Given the description of an element on the screen output the (x, y) to click on. 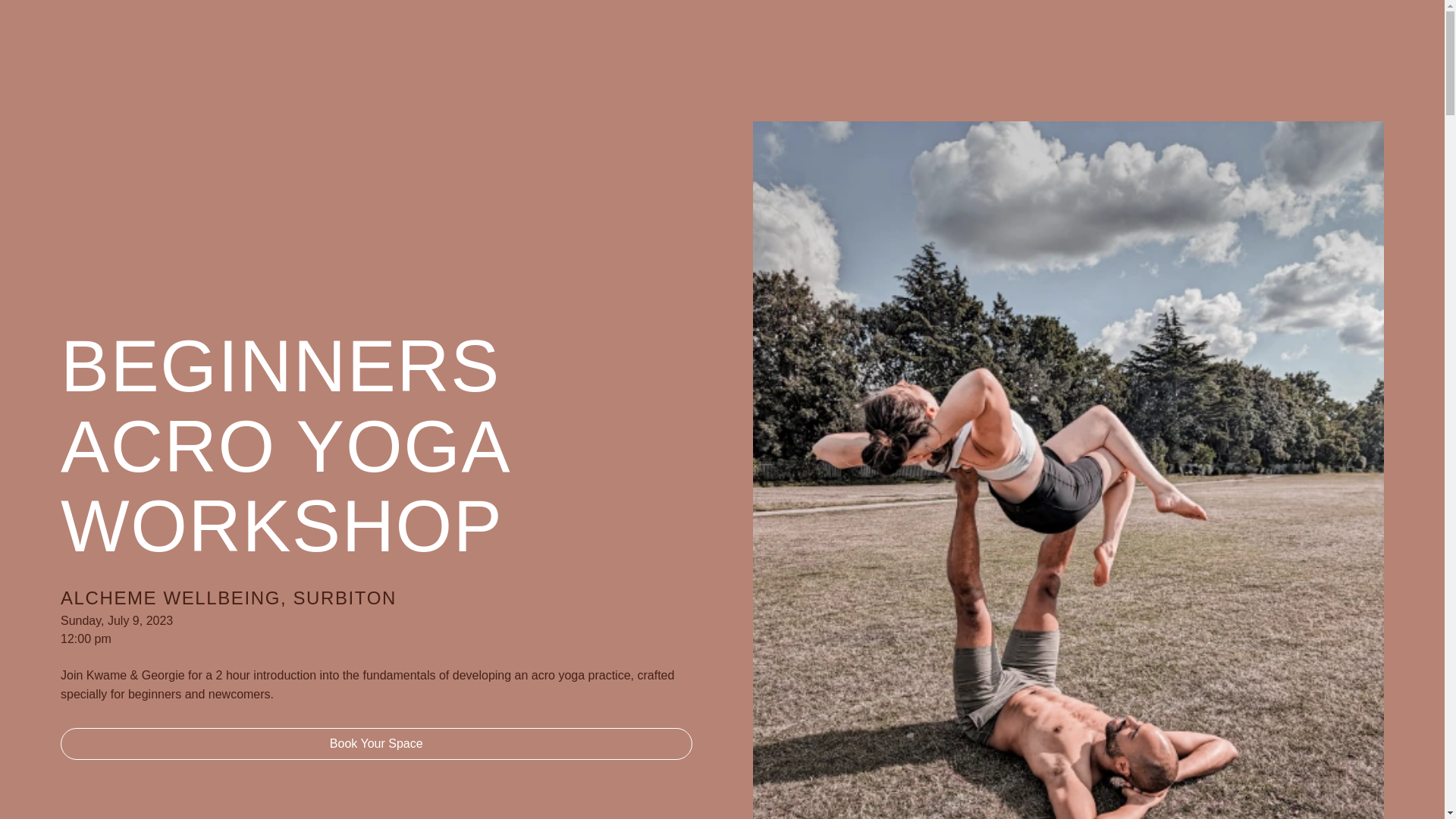
Book Your Space (377, 744)
